Given the description of an element on the screen output the (x, y) to click on. 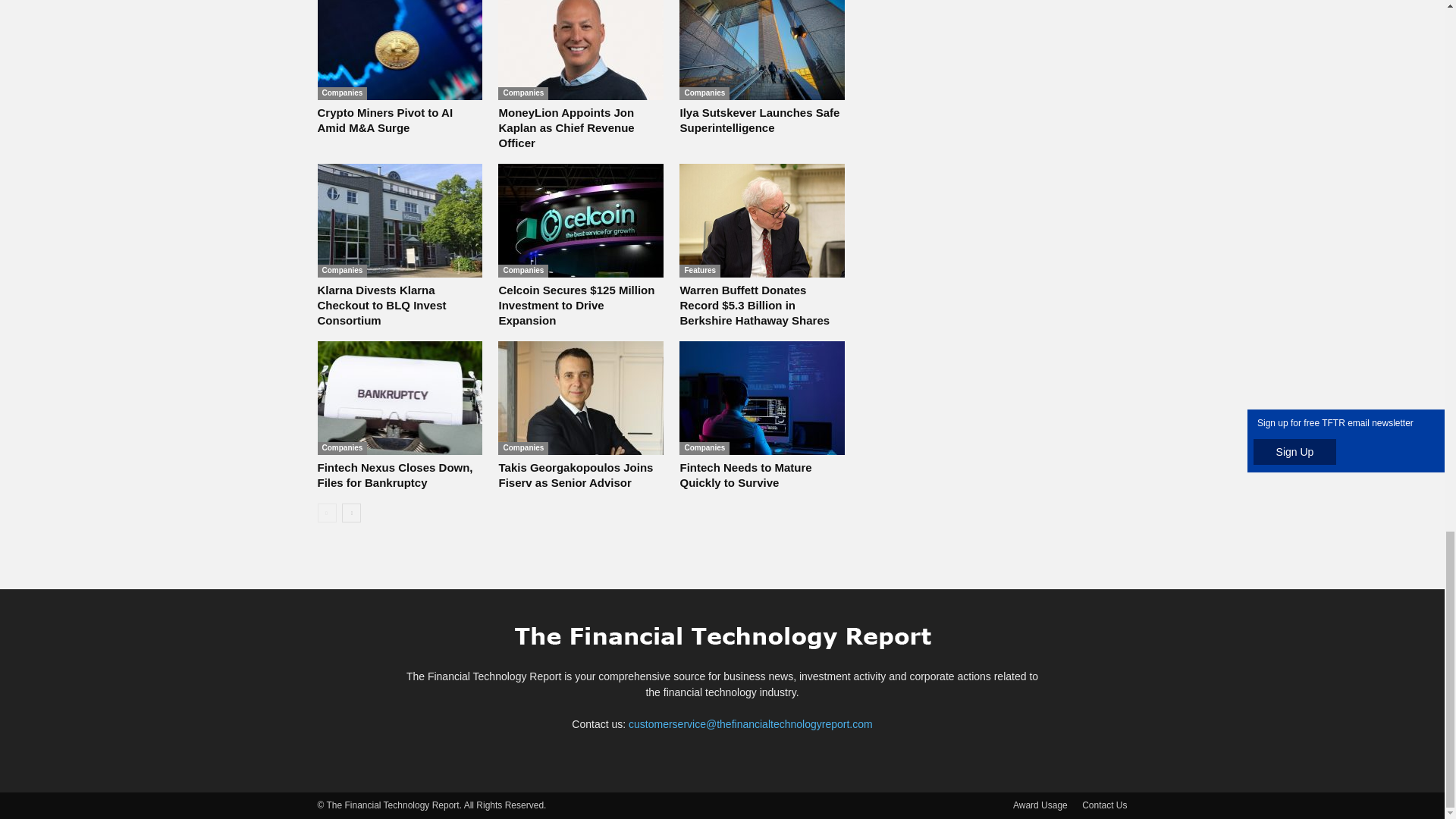
MoneyLion Appoints Jon Kaplan as Chief Revenue Officer (580, 49)
